Given the description of an element on the screen output the (x, y) to click on. 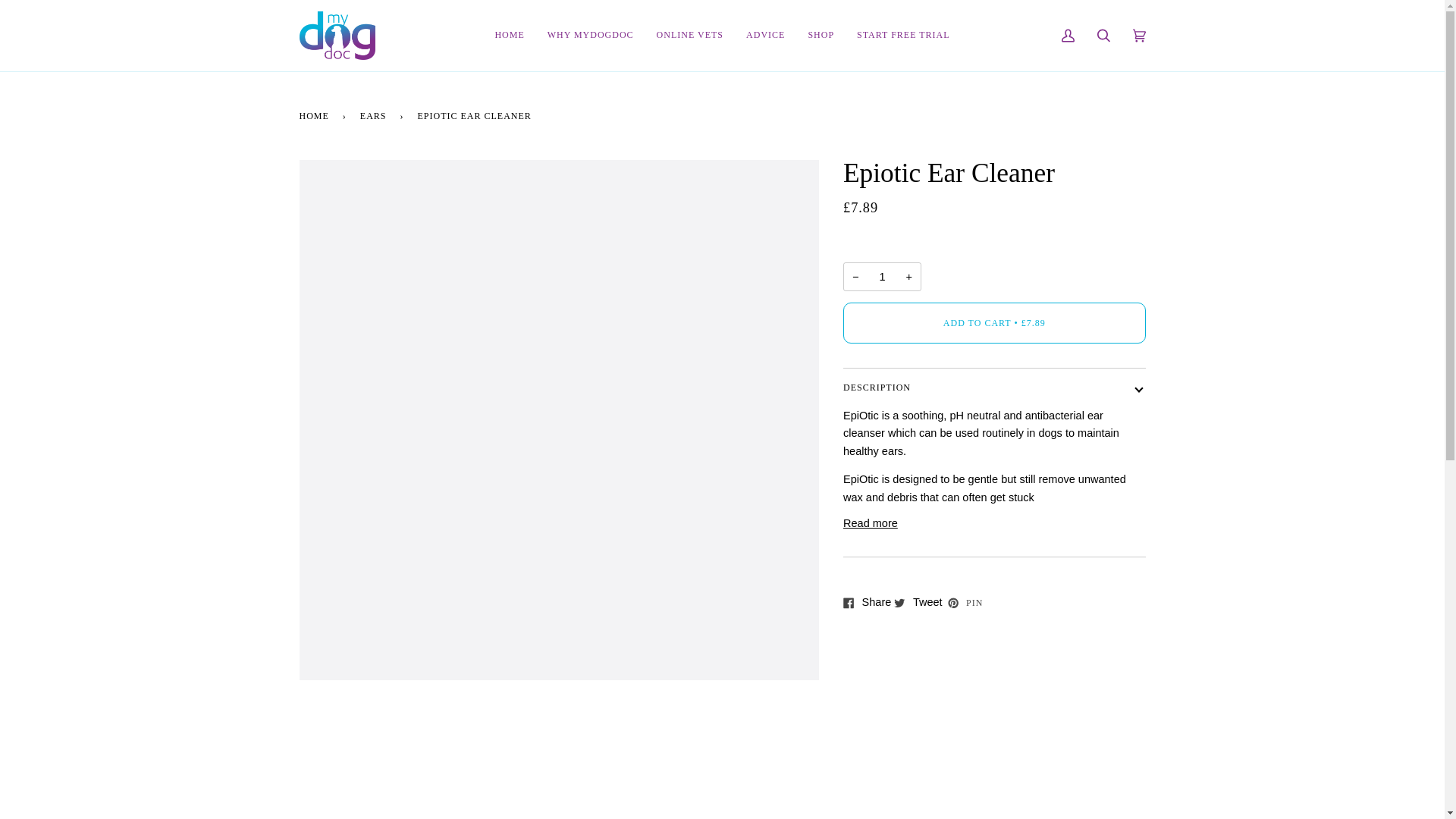
1 (882, 276)
WHY MYDOGDOC (590, 35)
Back to the frontpage (315, 115)
START FREE TRIAL (902, 35)
ONLINE VETS (690, 35)
